Given the description of an element on the screen output the (x, y) to click on. 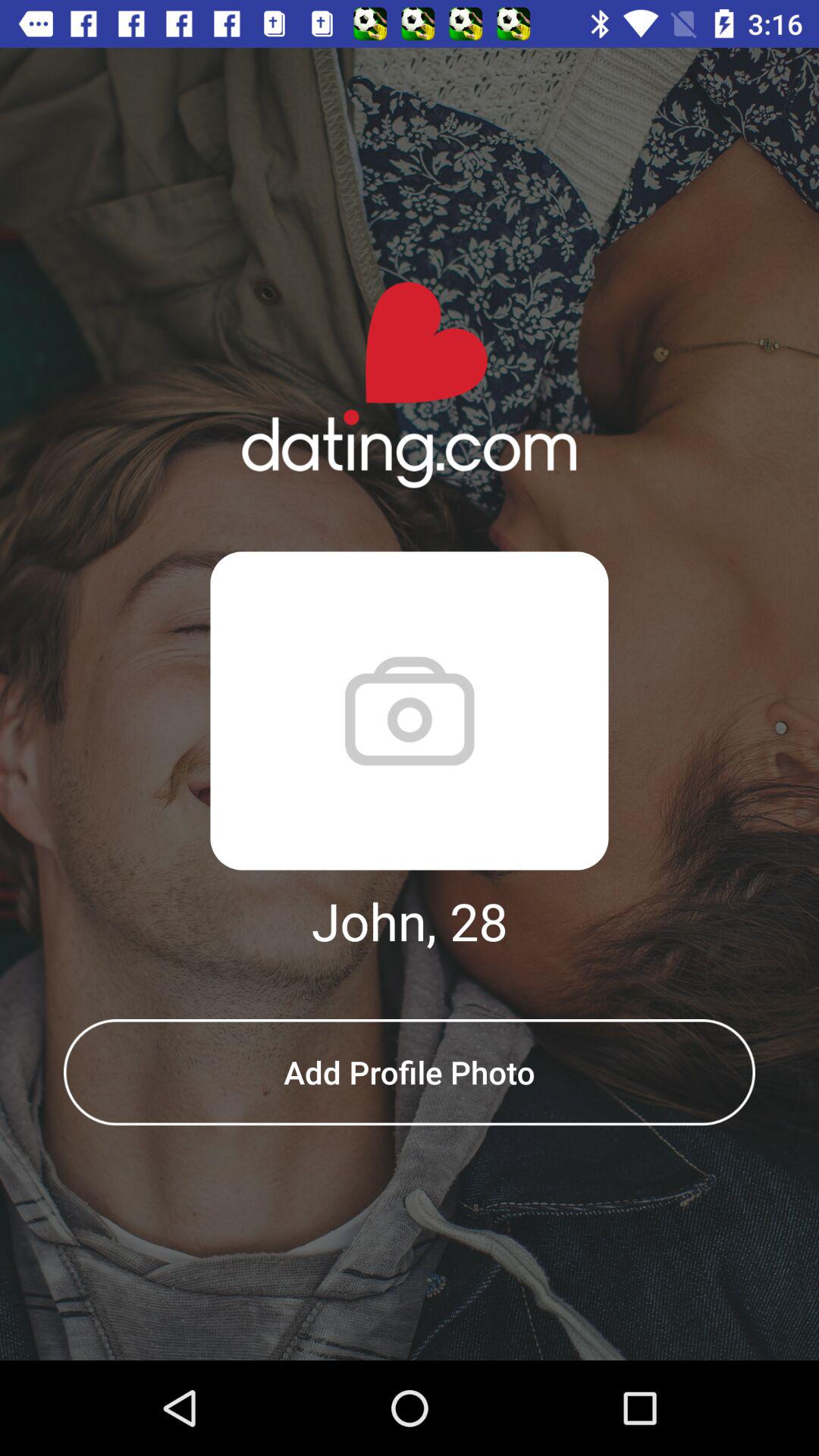
flip until add profile photo item (409, 1072)
